Given the description of an element on the screen output the (x, y) to click on. 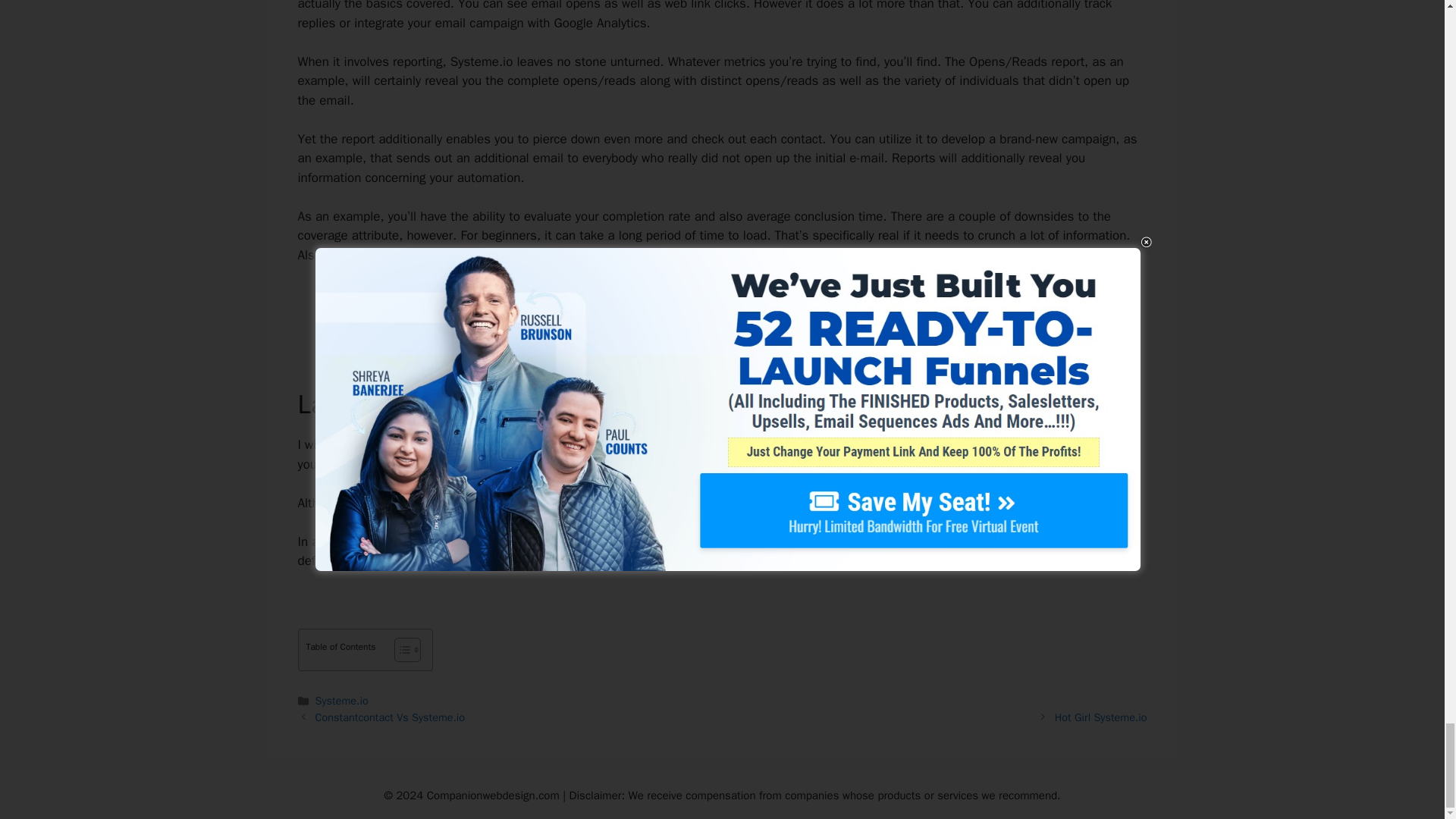
Test Out Systeme For Free Today (721, 307)
perfect email marketing (774, 444)
Systeme.io (341, 700)
Hot Girl Systeme.io (1100, 716)
Constantcontact Vs Systeme.io (390, 716)
